Given the description of an element on the screen output the (x, y) to click on. 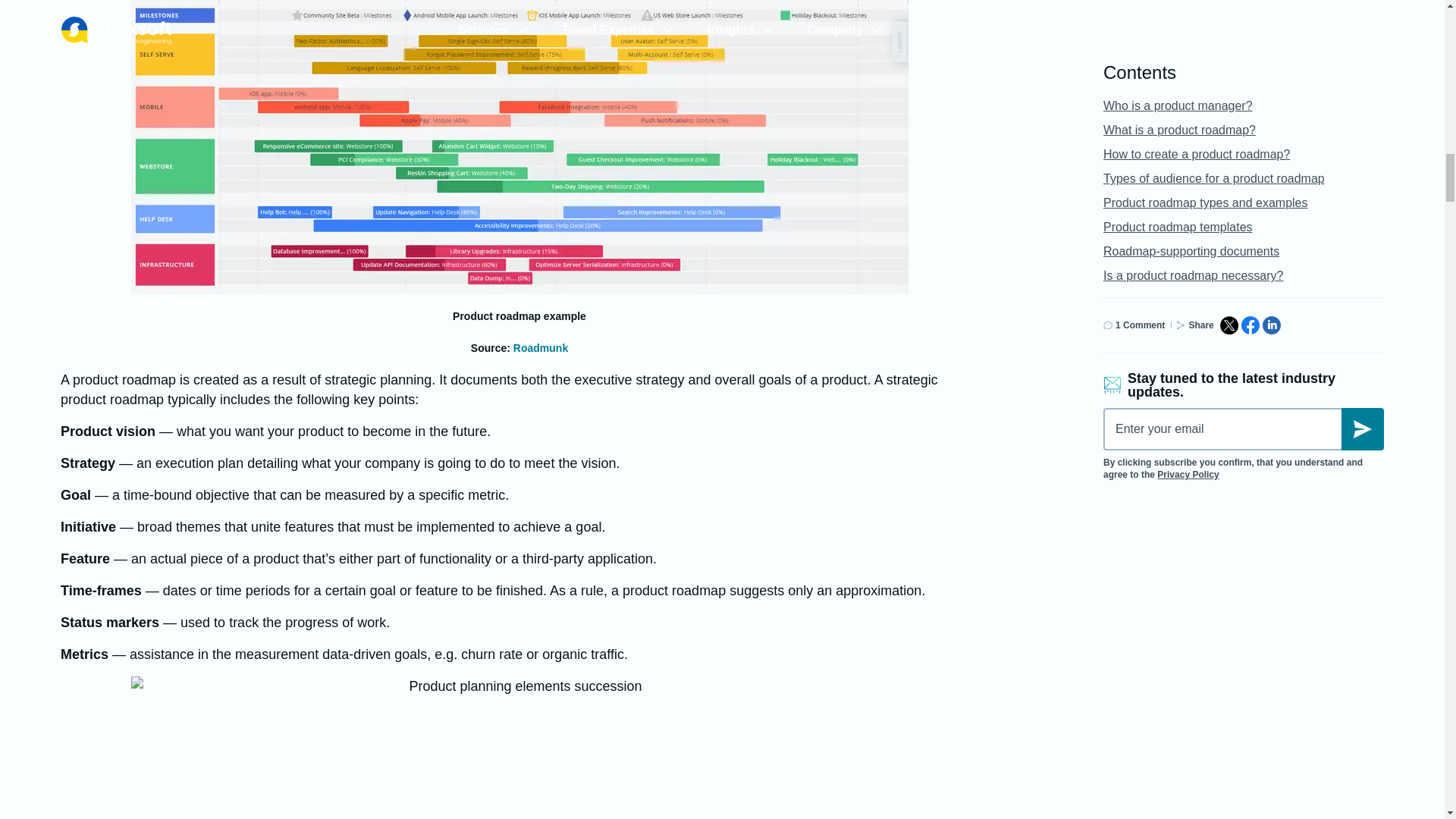
Roadmunk (540, 347)
